Given the description of an element on the screen output the (x, y) to click on. 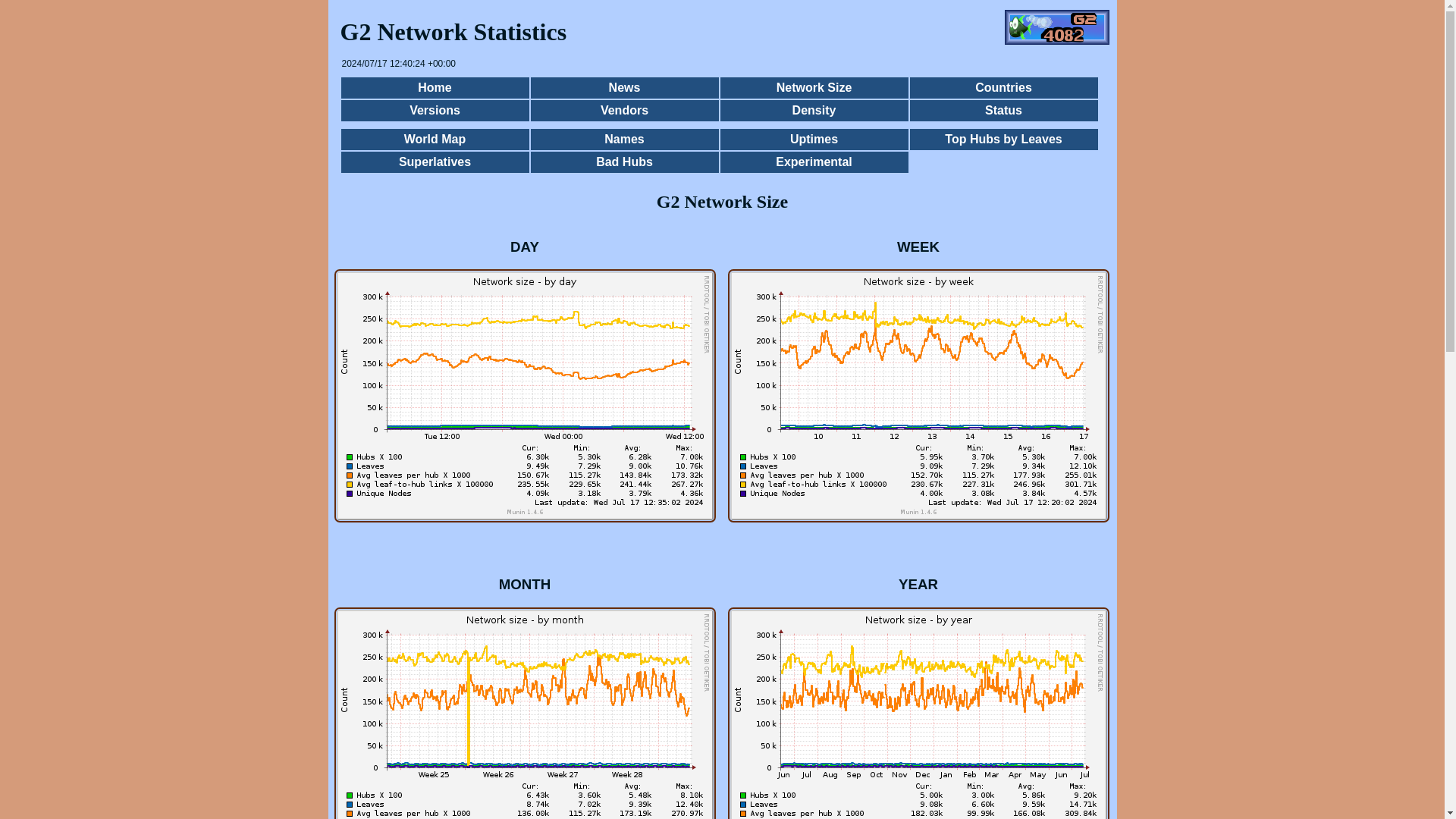
News (624, 87)
Home (434, 87)
Uptimes (813, 138)
Leaf distribution (813, 110)
Countries (1002, 87)
Statistics about the crawler (1002, 110)
Names (624, 138)
Hubs with the most leaves (1002, 138)
Hubs classified by country (1002, 87)
Crawler homepage (434, 87)
Size of network (813, 87)
List of nicknames (624, 138)
Fun facts about individual hubs (434, 161)
The latest G2 crawler news (624, 87)
Hubs classified by version (434, 110)
